Given the description of an element on the screen output the (x, y) to click on. 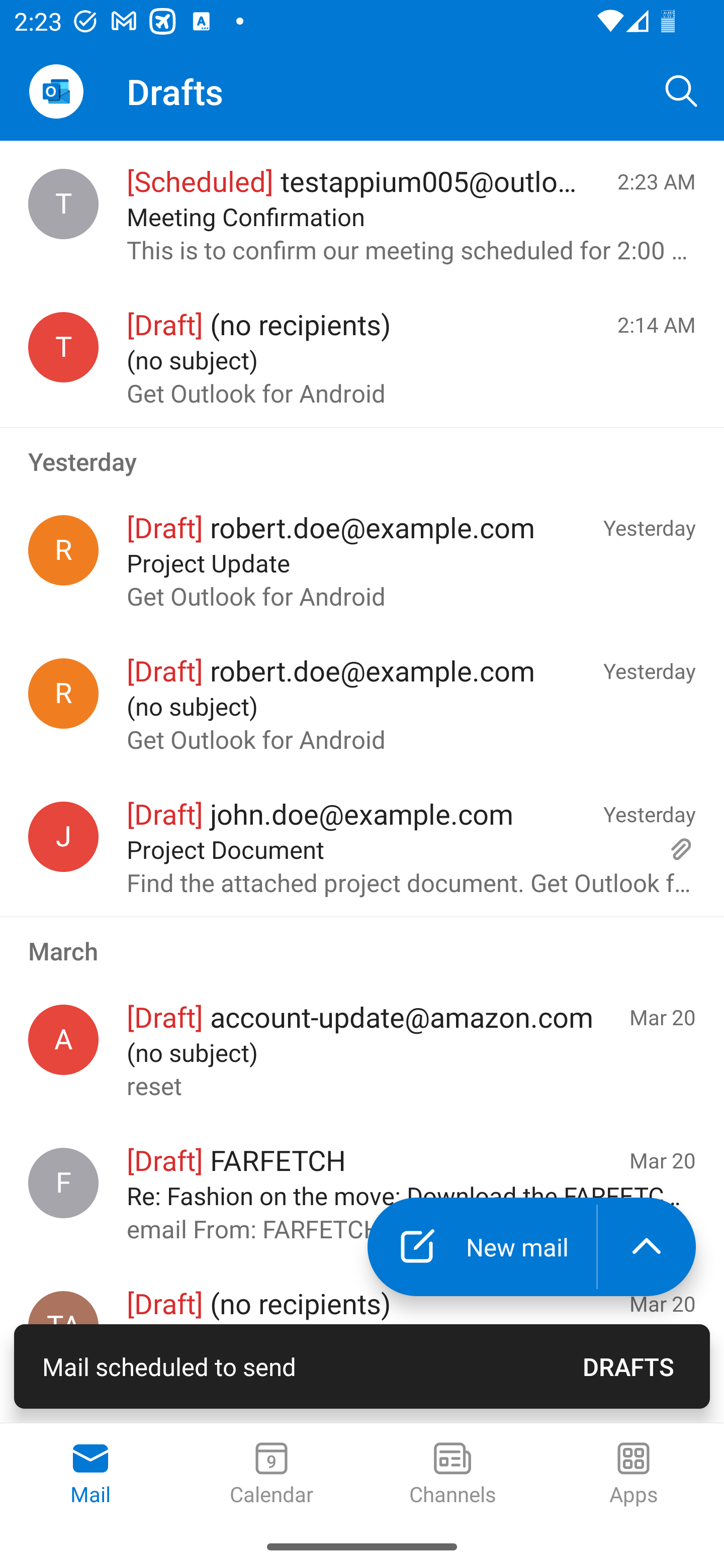
Search, ,  (681, 90)
Open Navigation Drawer (55, 91)
testappium002@outlook.com (63, 347)
robert.doe@example.com, testappium002@outlook.com (63, 549)
robert.doe@example.com, testappium002@outlook.com (63, 693)
john.doe@example.com, testappium002@outlook.com (63, 836)
account-update@amazon.com (63, 1040)
FARFETCH, testappium002@outlook.com (63, 1182)
New mail (481, 1246)
launch the extended action menu (646, 1246)
DRAFTS (628, 1366)
Calendar (271, 1474)
Channels (452, 1474)
Apps (633, 1474)
